Given the description of an element on the screen output the (x, y) to click on. 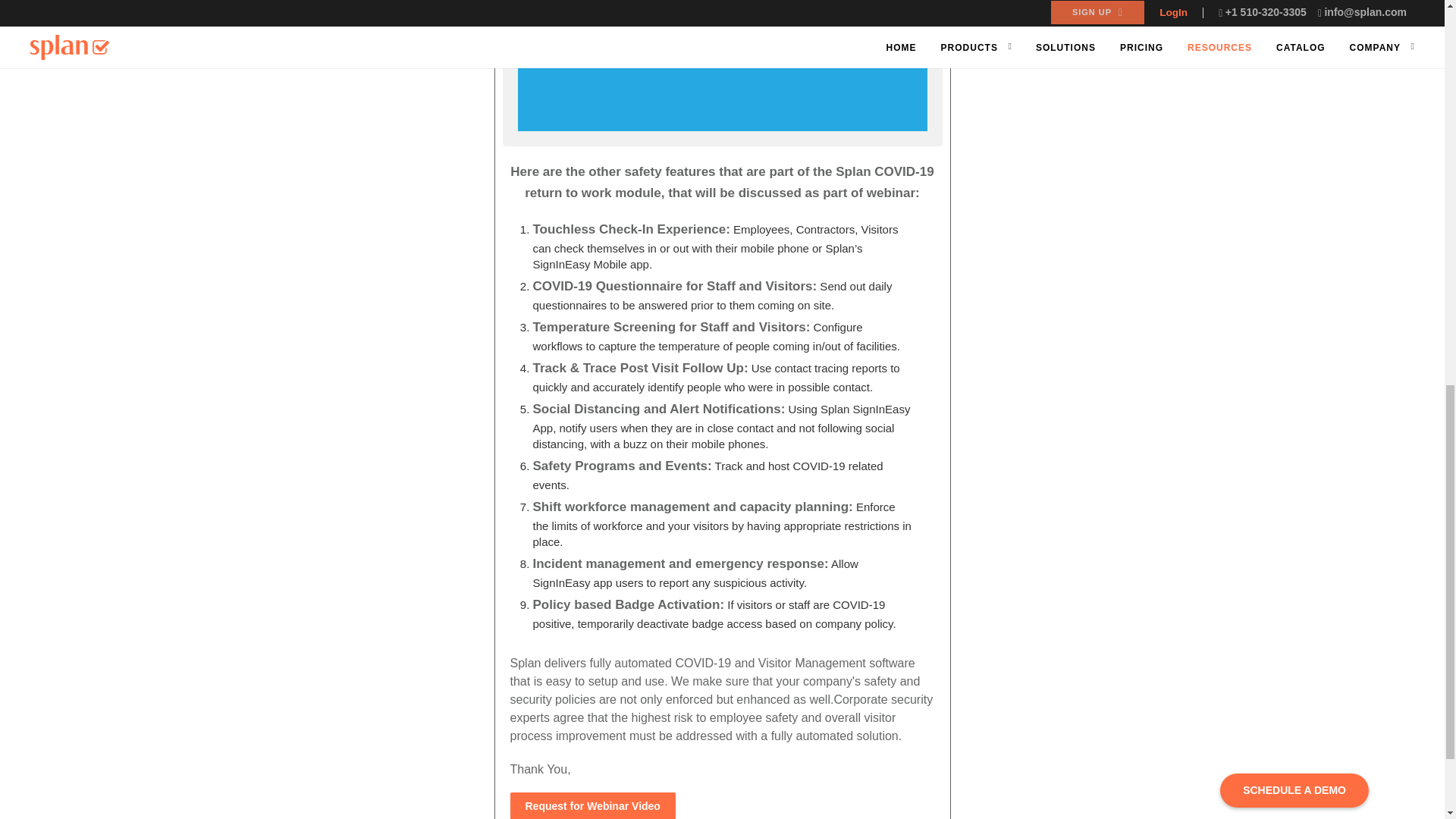
Request for Webinar Video (592, 805)
